Given the description of an element on the screen output the (x, y) to click on. 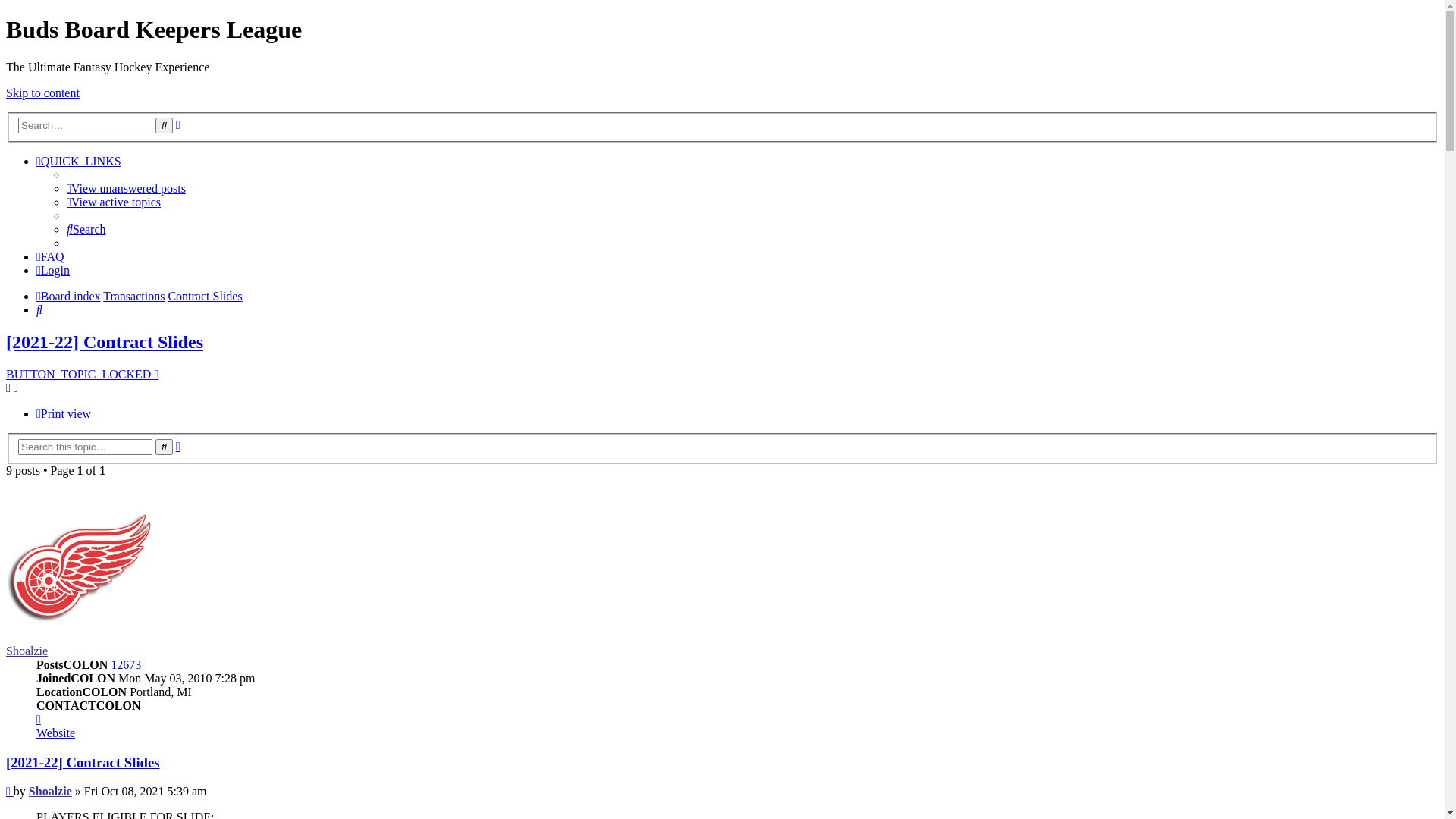
Contract Slides Element type: text (204, 295)
Board index Element type: text (68, 295)
Post Element type: text (9, 790)
TOPIC_TOOLS Element type: hover (12, 387)
Shoalzie Element type: text (50, 790)
Website Element type: text (55, 732)
Advanced search Element type: text (177, 124)
Search Element type: text (86, 228)
CONTACT_USER Element type: text (38, 718)
12673 Element type: text (125, 664)
[2021-22] Contract Slides Element type: text (83, 762)
Search for keywords Element type: hover (85, 125)
[2021-22] Contract Slides Element type: text (104, 341)
Search Element type: text (163, 447)
View unanswered posts Element type: text (125, 188)
Skip to content Element type: text (42, 92)
Print view Element type: text (63, 413)
Search Element type: text (163, 125)
Search Element type: text (39, 309)
Shoalzie Element type: text (26, 650)
Login Element type: text (52, 269)
BUTTON_TOPIC_LOCKED Element type: text (82, 373)
QUICK_LINKS Element type: text (78, 160)
FAQ Element type: text (50, 256)
Advanced search Element type: text (177, 445)
View active topics Element type: text (113, 201)
Transactions Element type: text (133, 295)
